Given the description of an element on the screen output the (x, y) to click on. 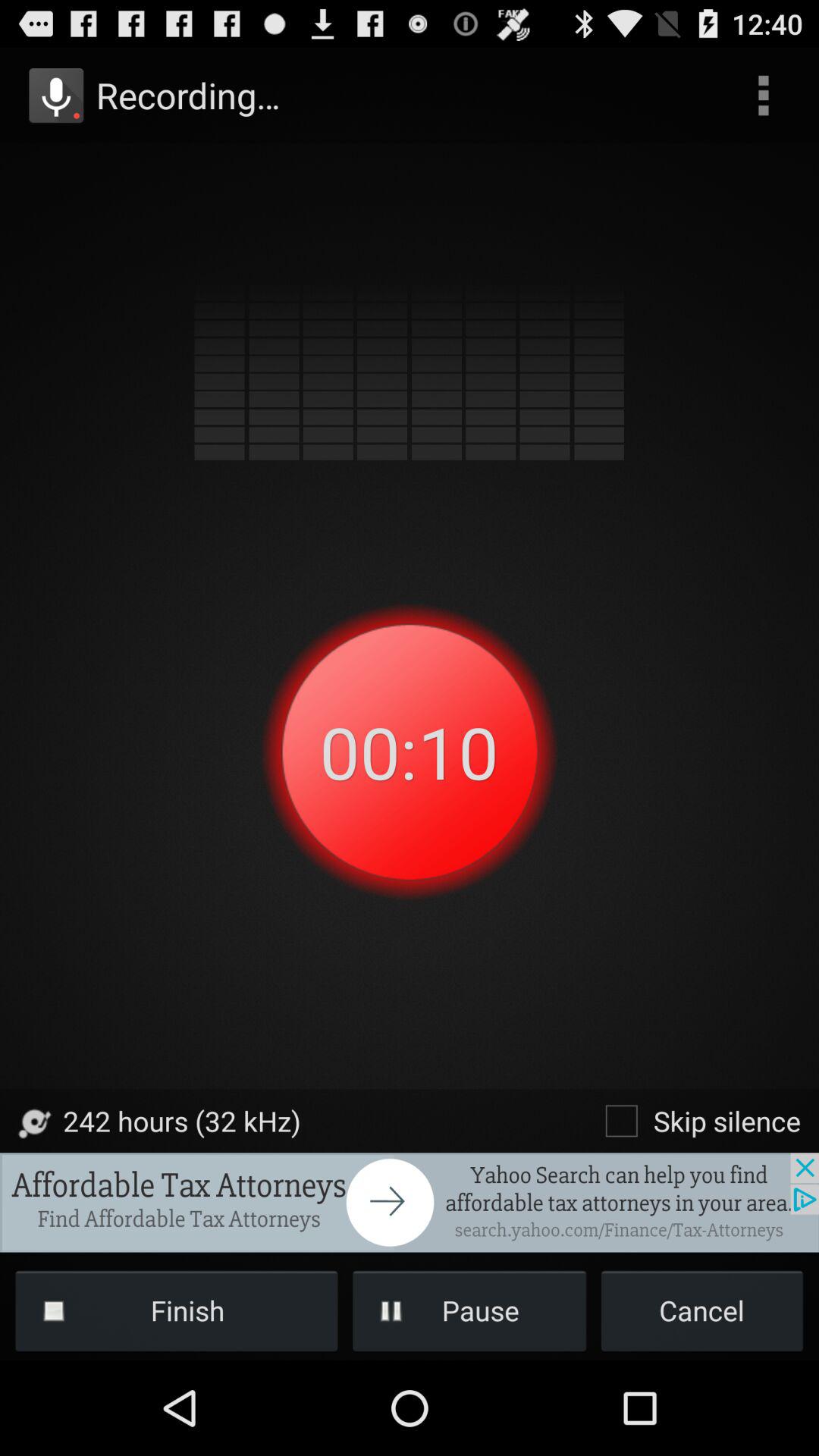
advertisement banner (409, 1202)
